Given the description of an element on the screen output the (x, y) to click on. 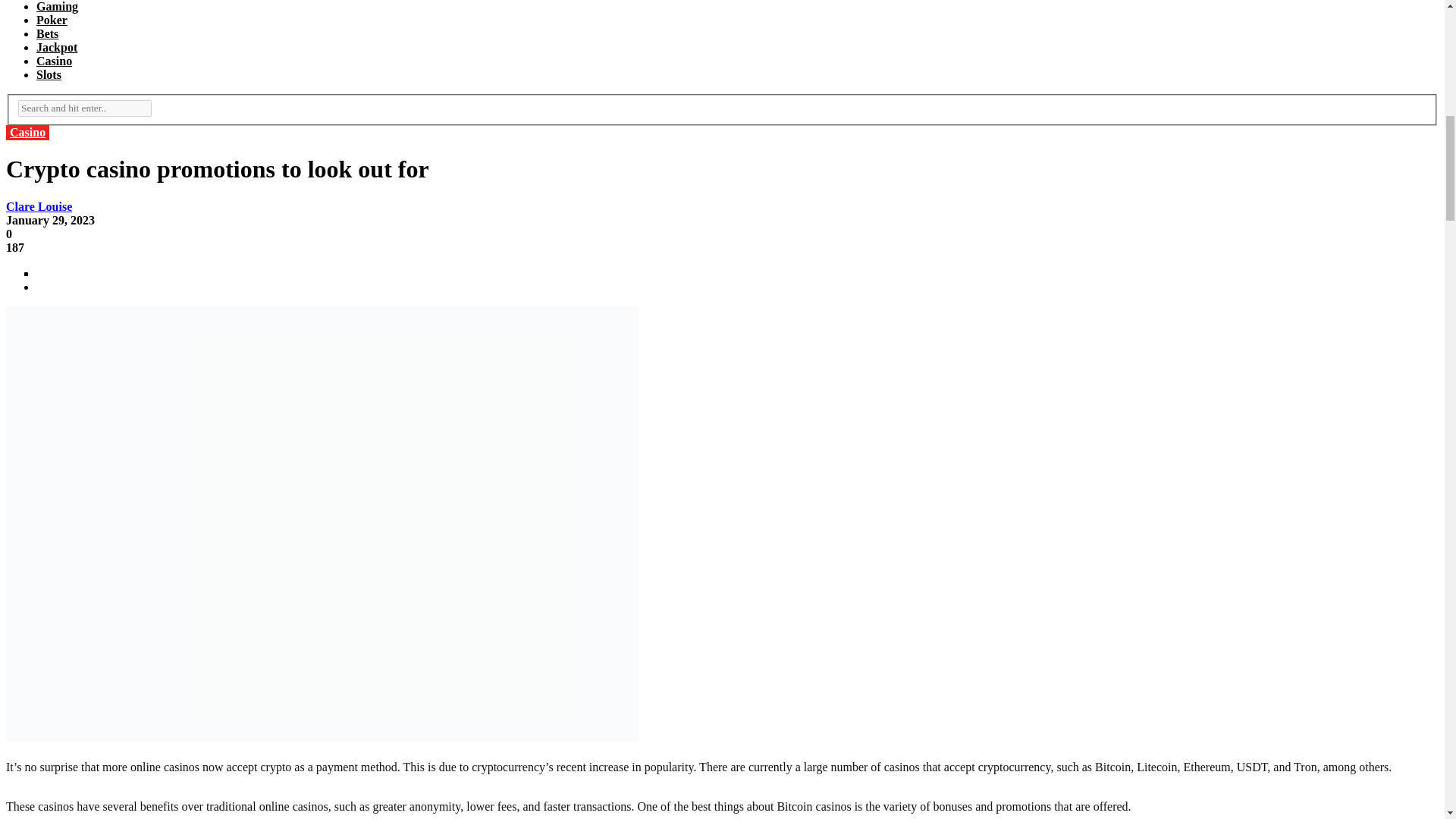
Gaming (57, 6)
Casino (53, 60)
Bets (47, 33)
Slots (48, 74)
Jackpot (56, 47)
Casino (27, 132)
Poker (51, 19)
Clare Louise (38, 205)
